Given the description of an element on the screen output the (x, y) to click on. 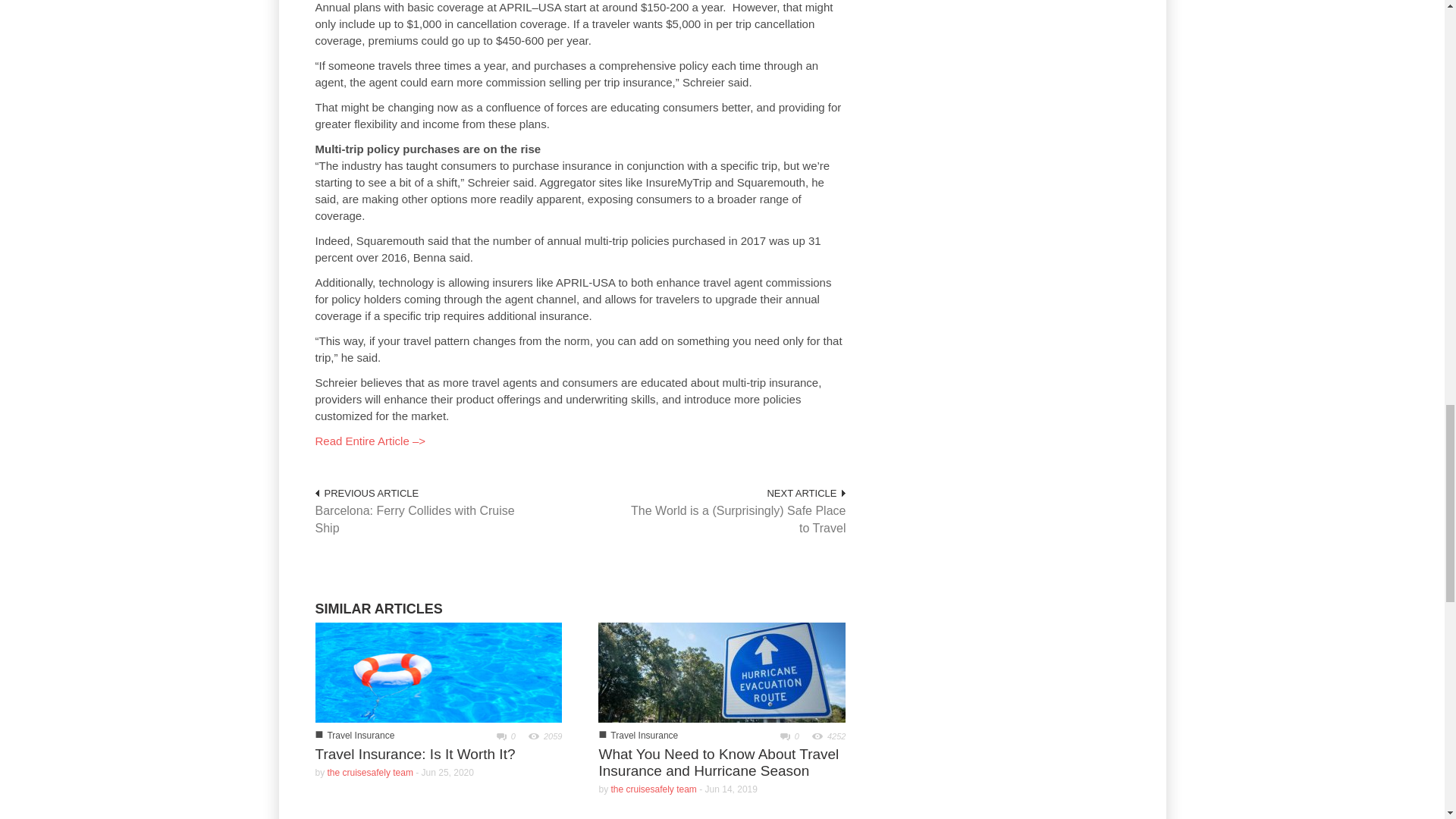
0 (783, 736)
Travel Insurance (360, 735)
Travel Insurance (644, 735)
Travel Insurance: Is It Worth It? (415, 754)
the cruisesafely team (370, 772)
Travel Insurance: Is It Worth It? (438, 672)
0 (499, 736)
Travel Insurance: Is It Worth It? (438, 671)
